Given the description of an element on the screen output the (x, y) to click on. 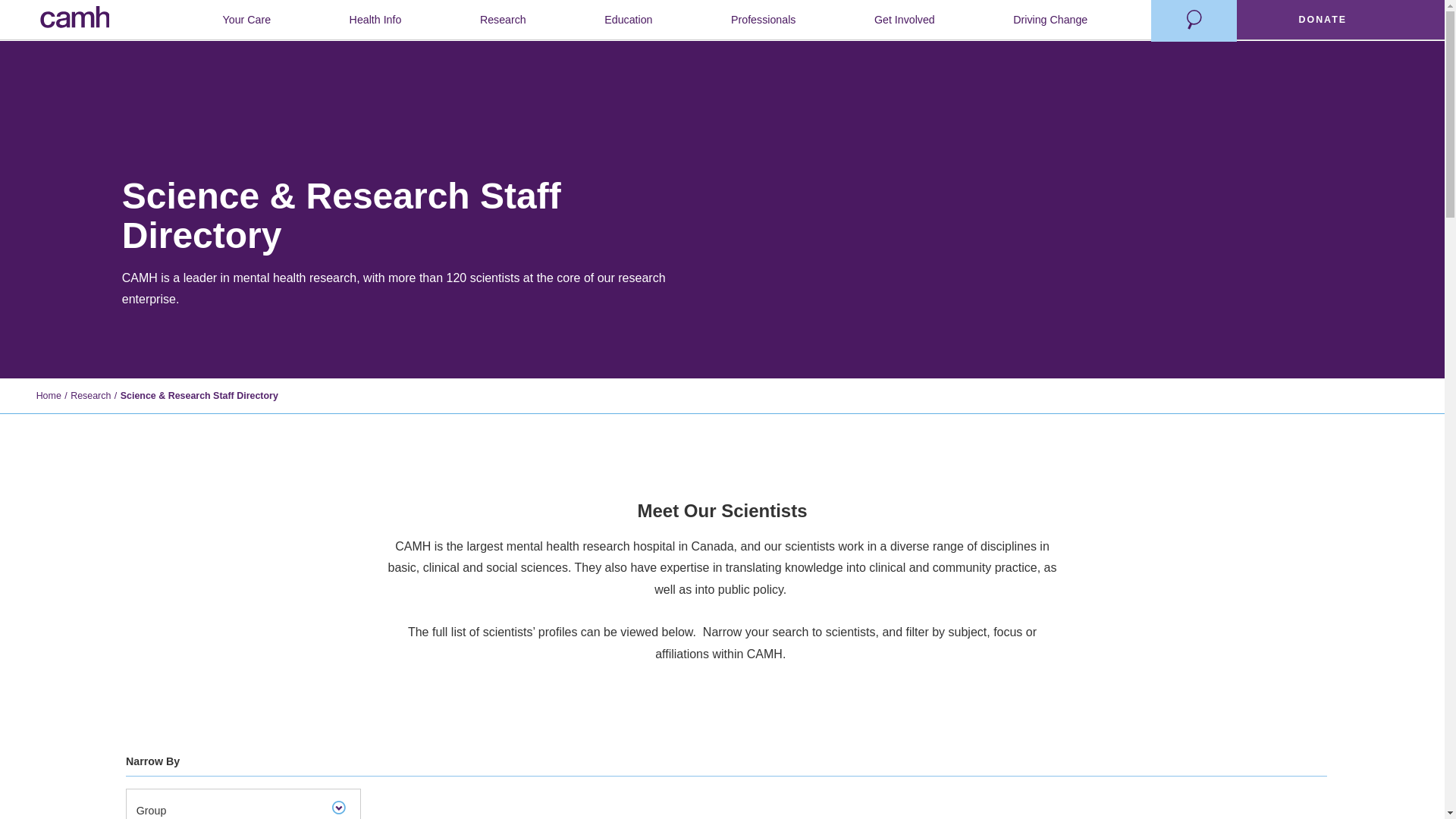
View Crisis Resouces (1117, 20)
CAMH logo (75, 20)
Your Care (246, 20)
